Given the description of an element on the screen output the (x, y) to click on. 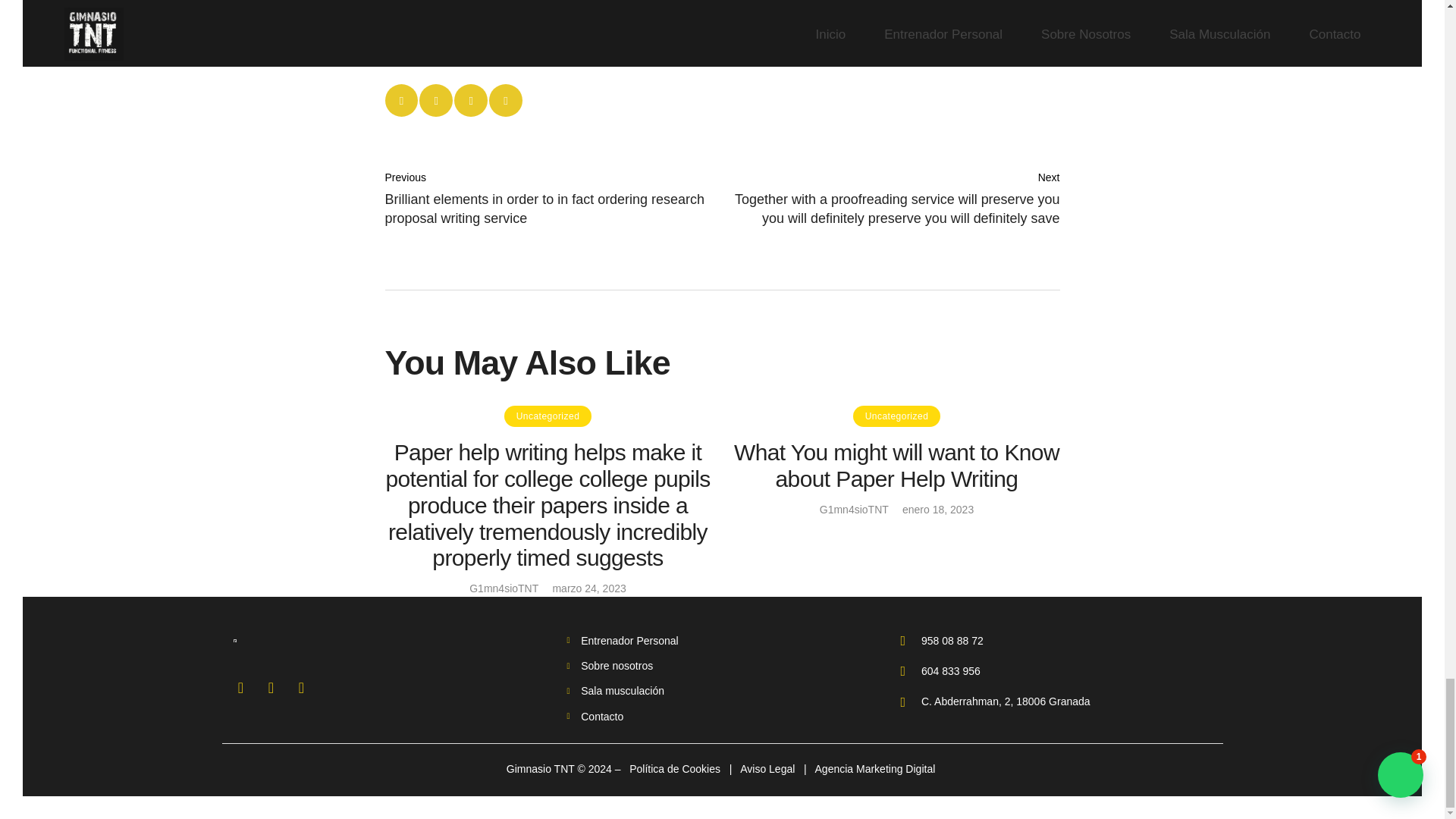
What You might will want to Know about Paper Help Writing (896, 466)
View all posts in Uncategorized (547, 415)
View all posts in Uncategorized (896, 415)
Uncategorized (547, 415)
G1mn4sioTNT (853, 509)
Uncategorized (896, 415)
G1mn4sioTNT (503, 588)
